Given the description of an element on the screen output the (x, y) to click on. 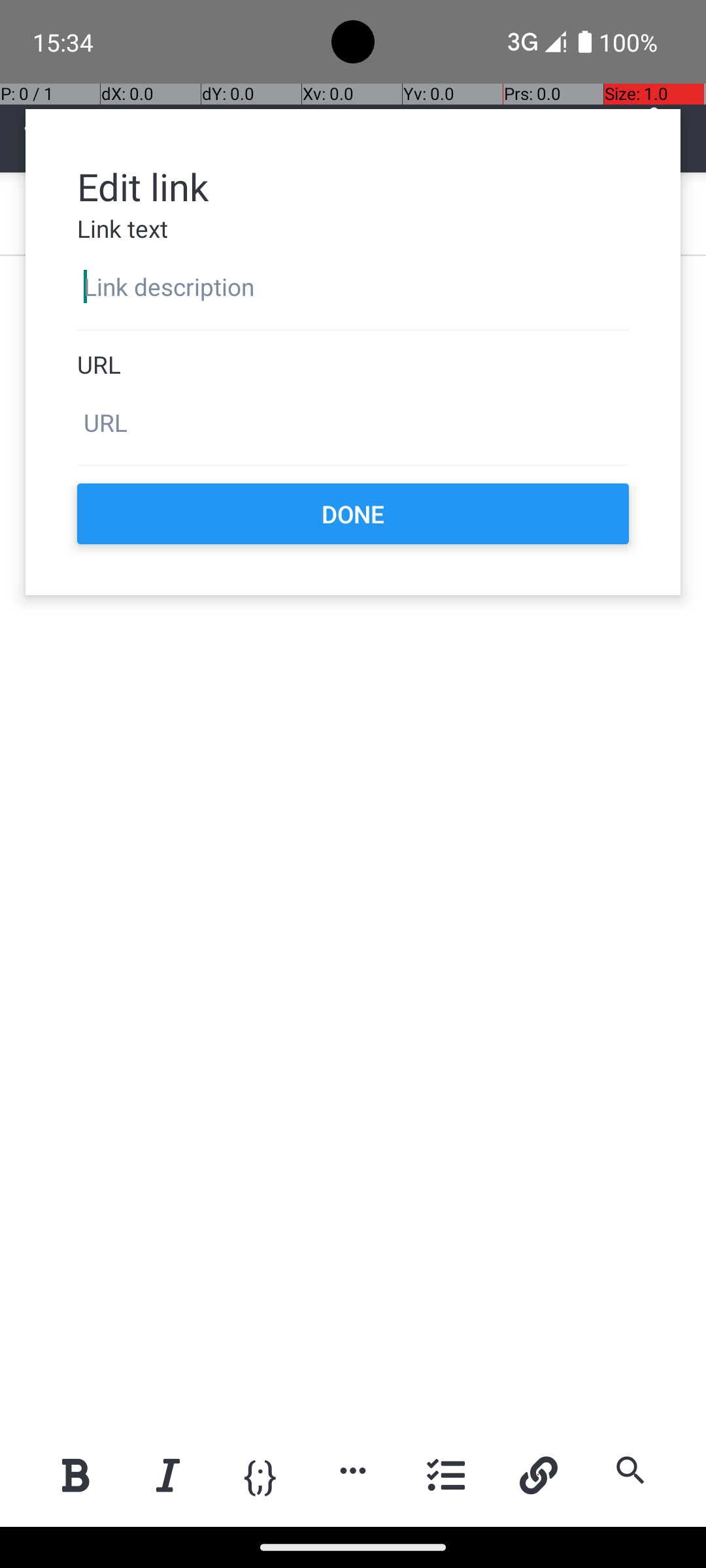
Edit link Element type: android.widget.TextView (352, 185)
Link text Element type: android.widget.TextView (352, 228)
Link description Element type: android.widget.EditText (352, 287)
URL Element type: android.widget.TextView (352, 363)
DONE Element type: android.widget.TextView (352, 513)
